Given the description of an element on the screen output the (x, y) to click on. 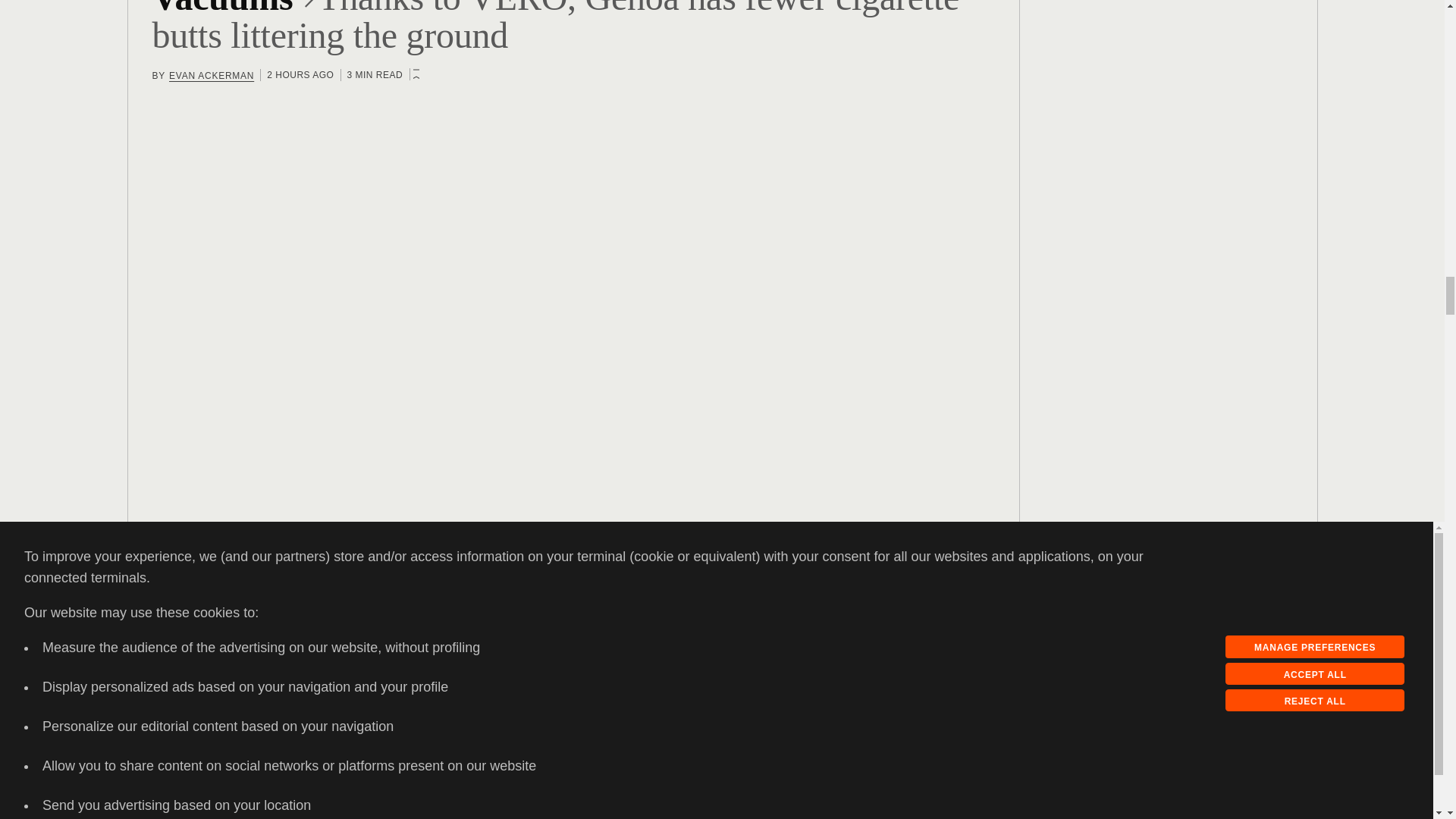
Copy this link to clipboard (192, 678)
